Given the description of an element on the screen output the (x, y) to click on. 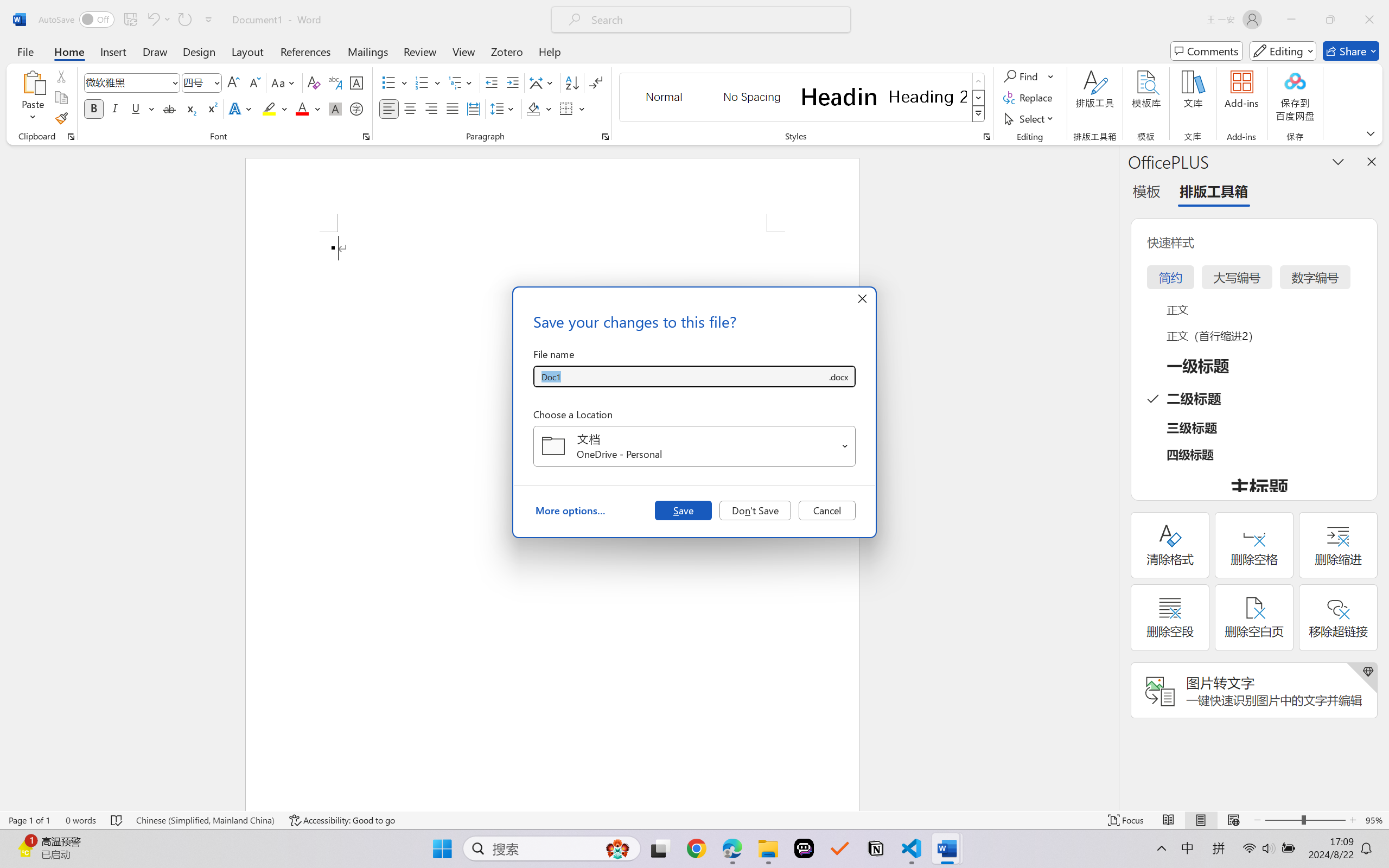
Class: MsoCommandBar (694, 819)
Language Chinese (Simplified, Mainland China) (205, 819)
Choose a Location (694, 446)
